Given the description of an element on the screen output the (x, y) to click on. 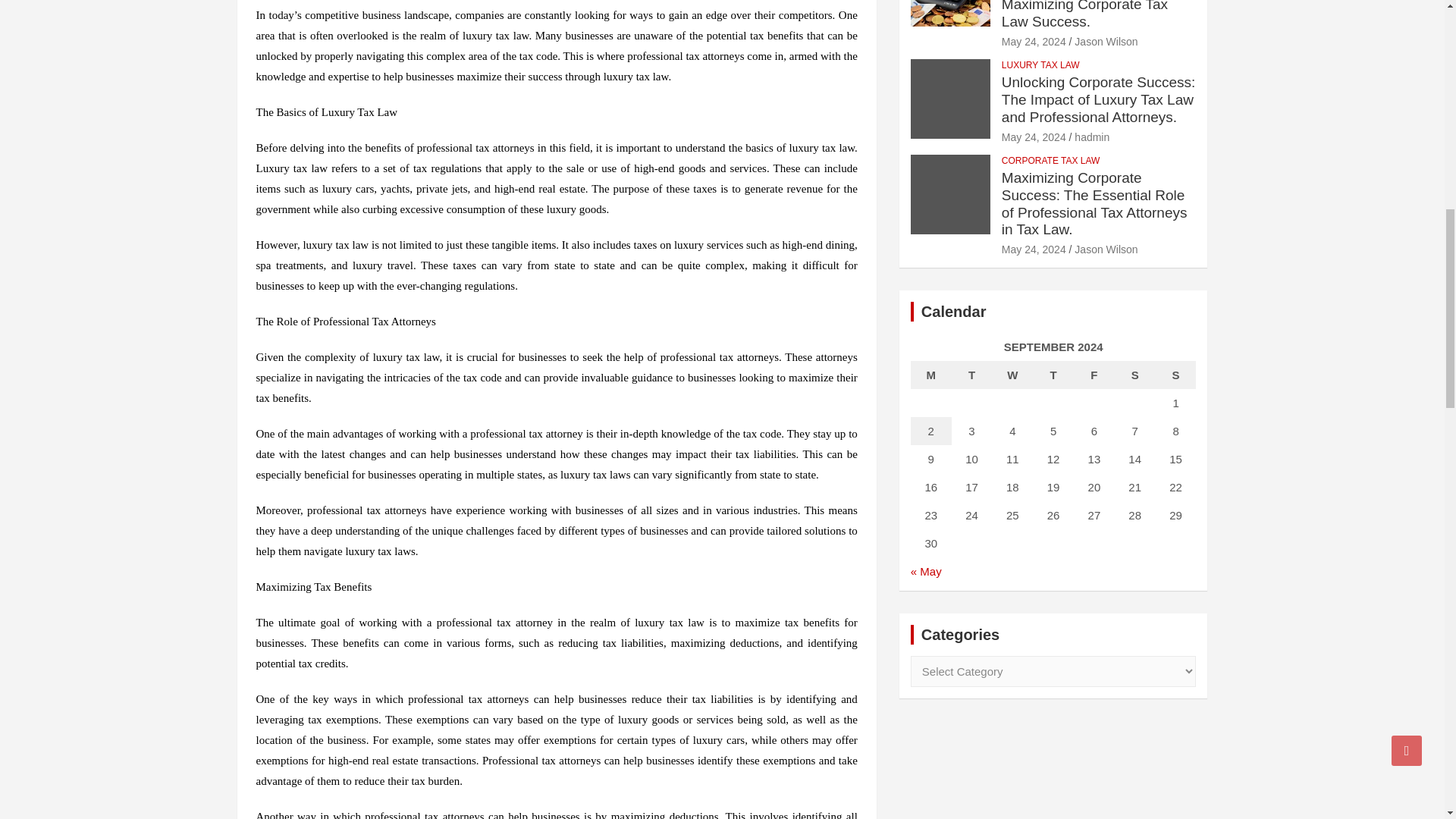
May 24, 2024 (1033, 41)
Monday (931, 375)
Thursday (1053, 375)
May 24, 2024 (1033, 137)
LUXURY TAX LAW (1040, 65)
Friday (1094, 375)
hadmin (1091, 137)
